Given the description of an element on the screen output the (x, y) to click on. 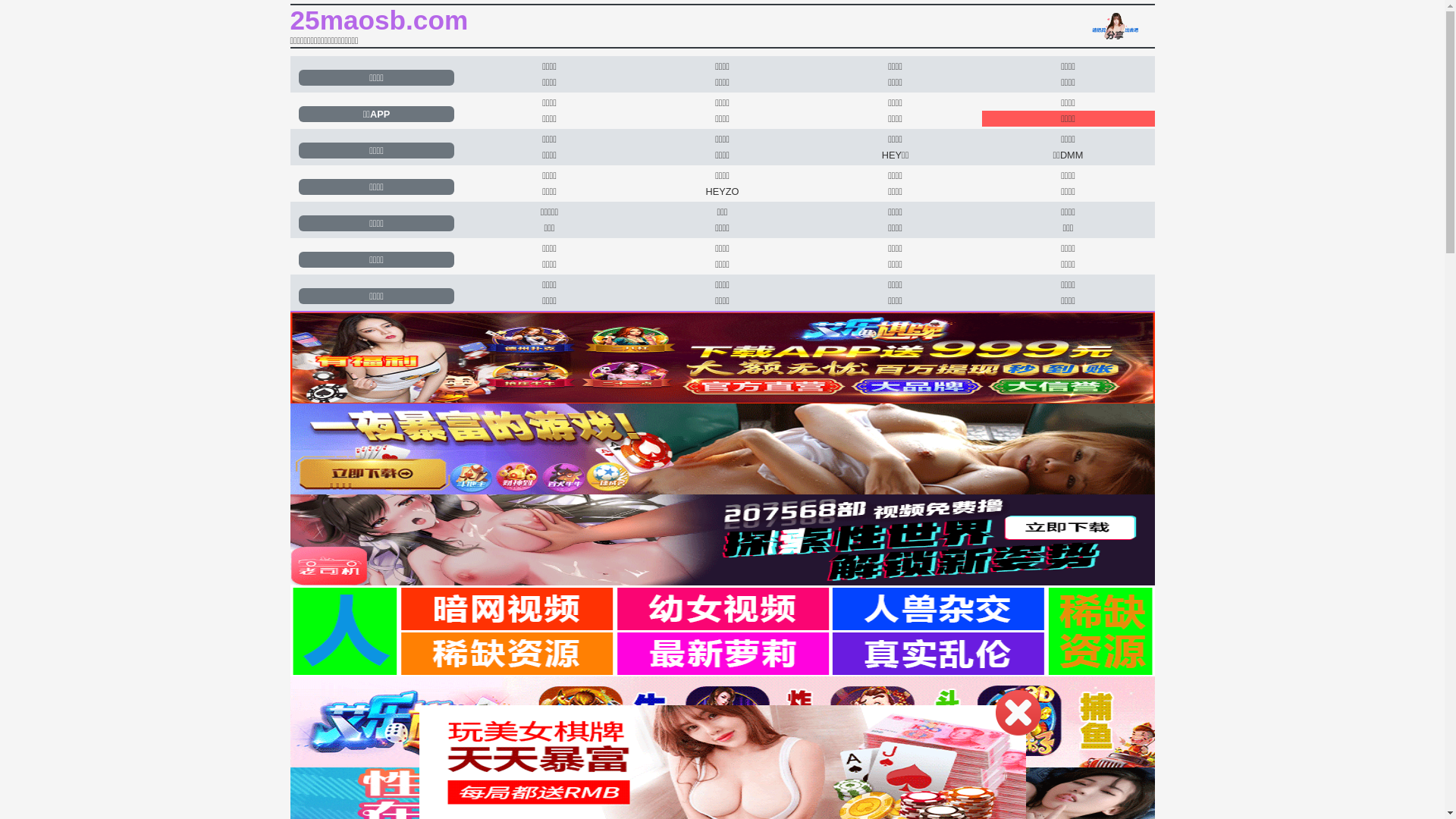
HEYZO Element type: text (722, 191)
